Given the description of an element on the screen output the (x, y) to click on. 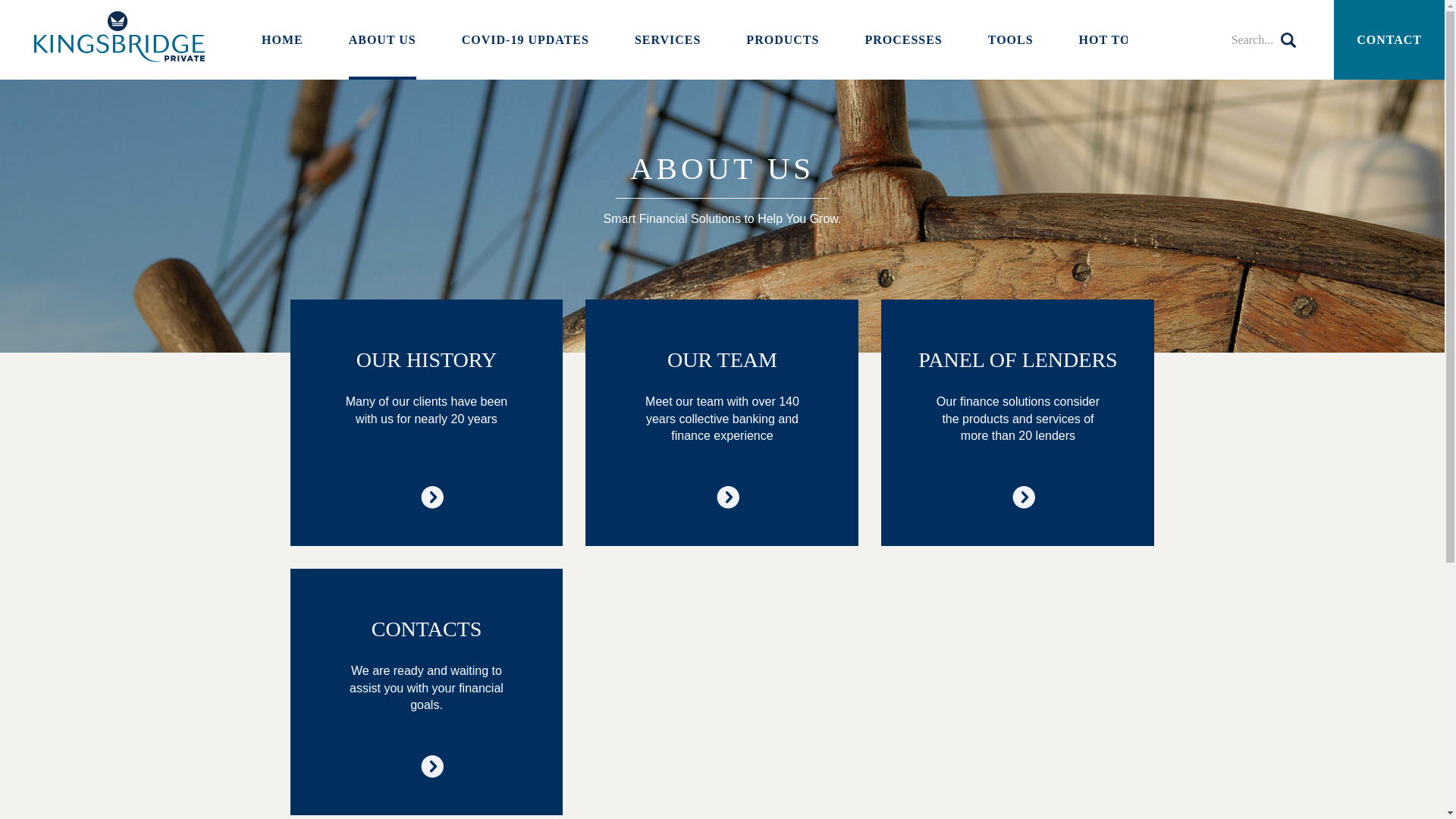
PRODUCTS (781, 39)
PROCESSES (903, 39)
HOT TOPICS (1119, 39)
COVID-19 UPDATES (525, 39)
